Given the description of an element on the screen output the (x, y) to click on. 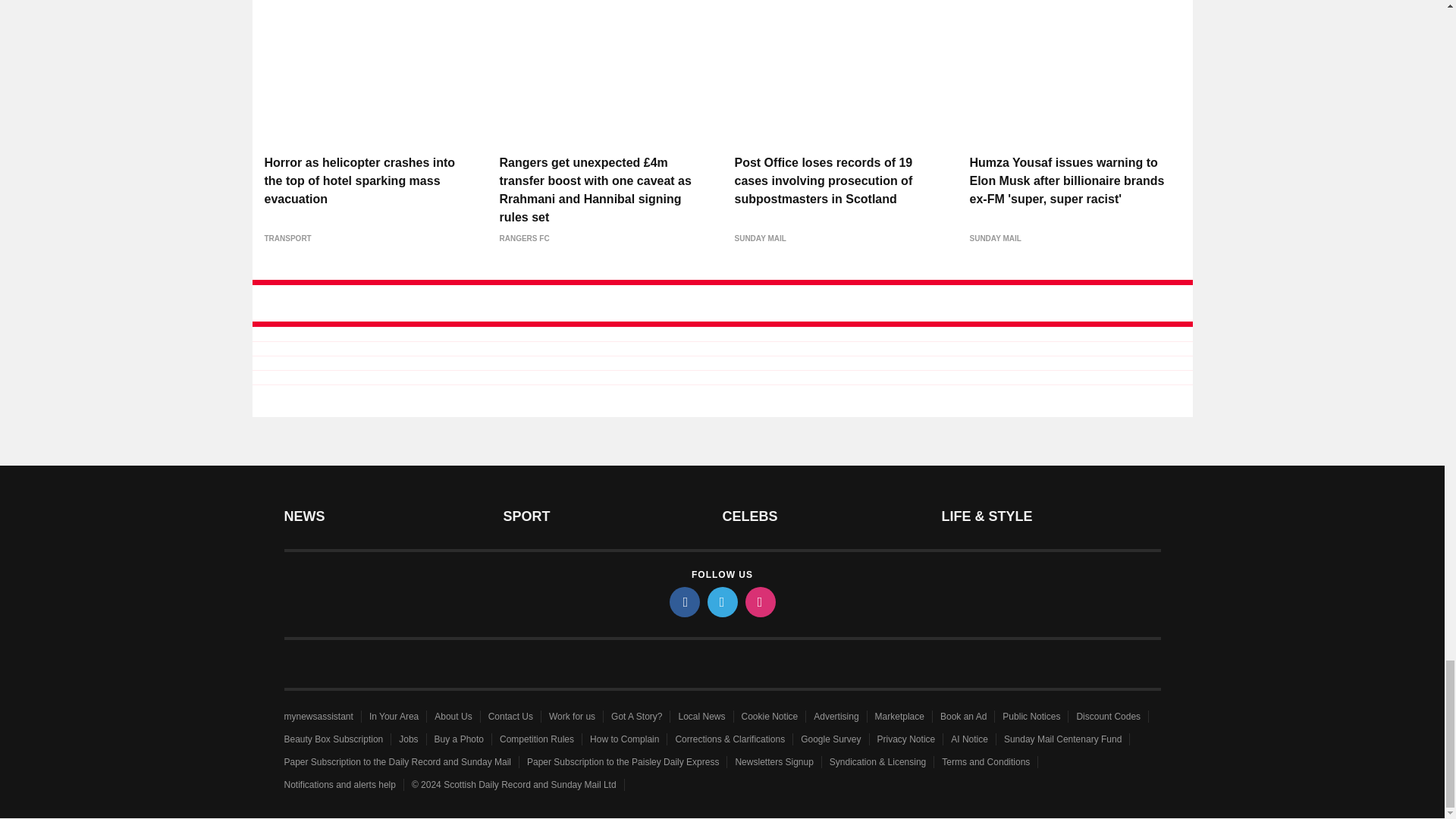
twitter (721, 602)
facebook (683, 602)
instagram (759, 602)
